Given the description of an element on the screen output the (x, y) to click on. 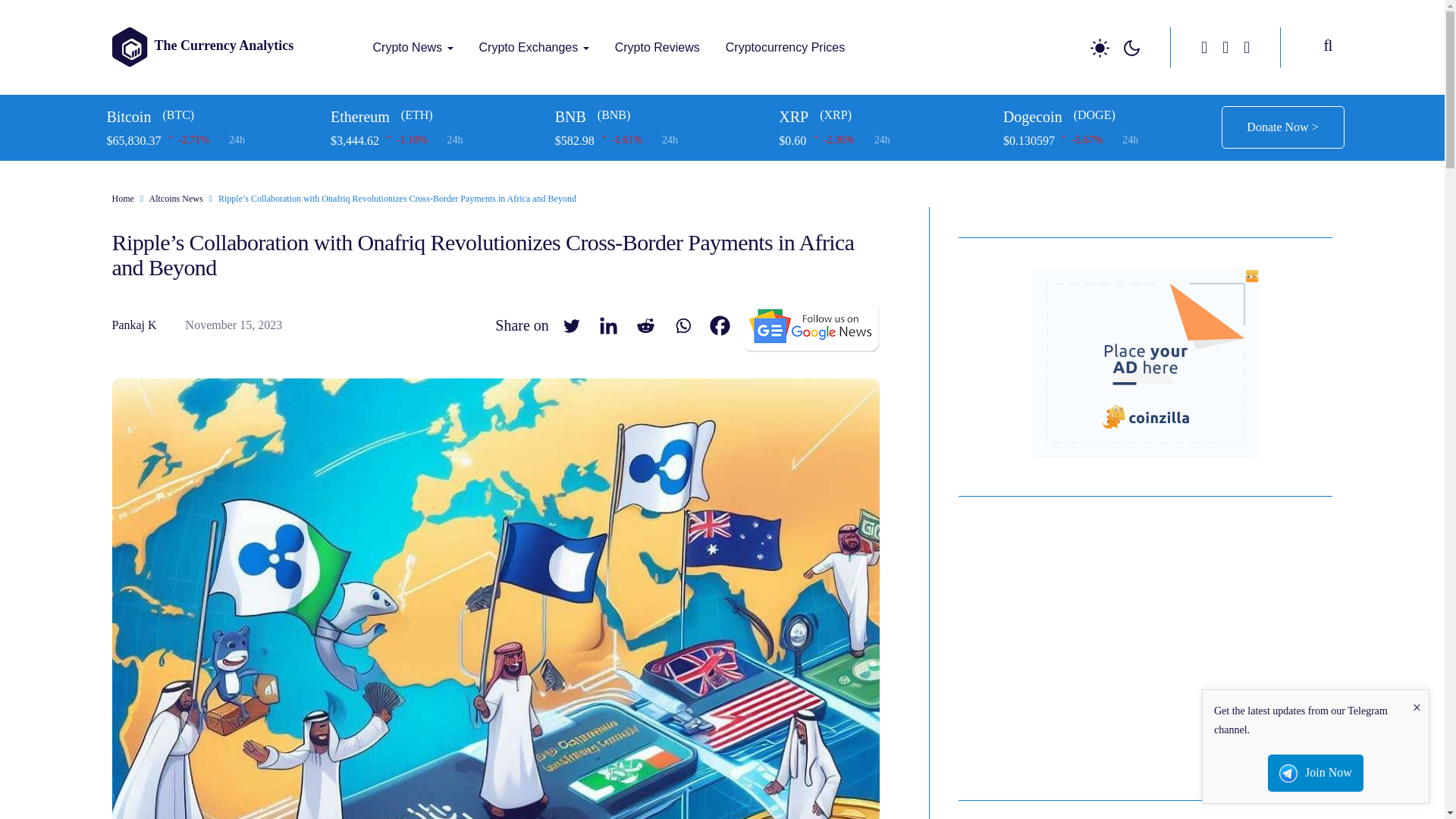
The Currency analytics (379, 77)
Bitcoin (212, 116)
Crypto Reviews (657, 47)
Crypto News (412, 47)
Ethereum (436, 116)
Crypto Exchanges (533, 47)
Crypto Exchanges (533, 47)
Crypto News (412, 47)
Cryptocurrency Prices (785, 47)
